Given the description of an element on the screen output the (x, y) to click on. 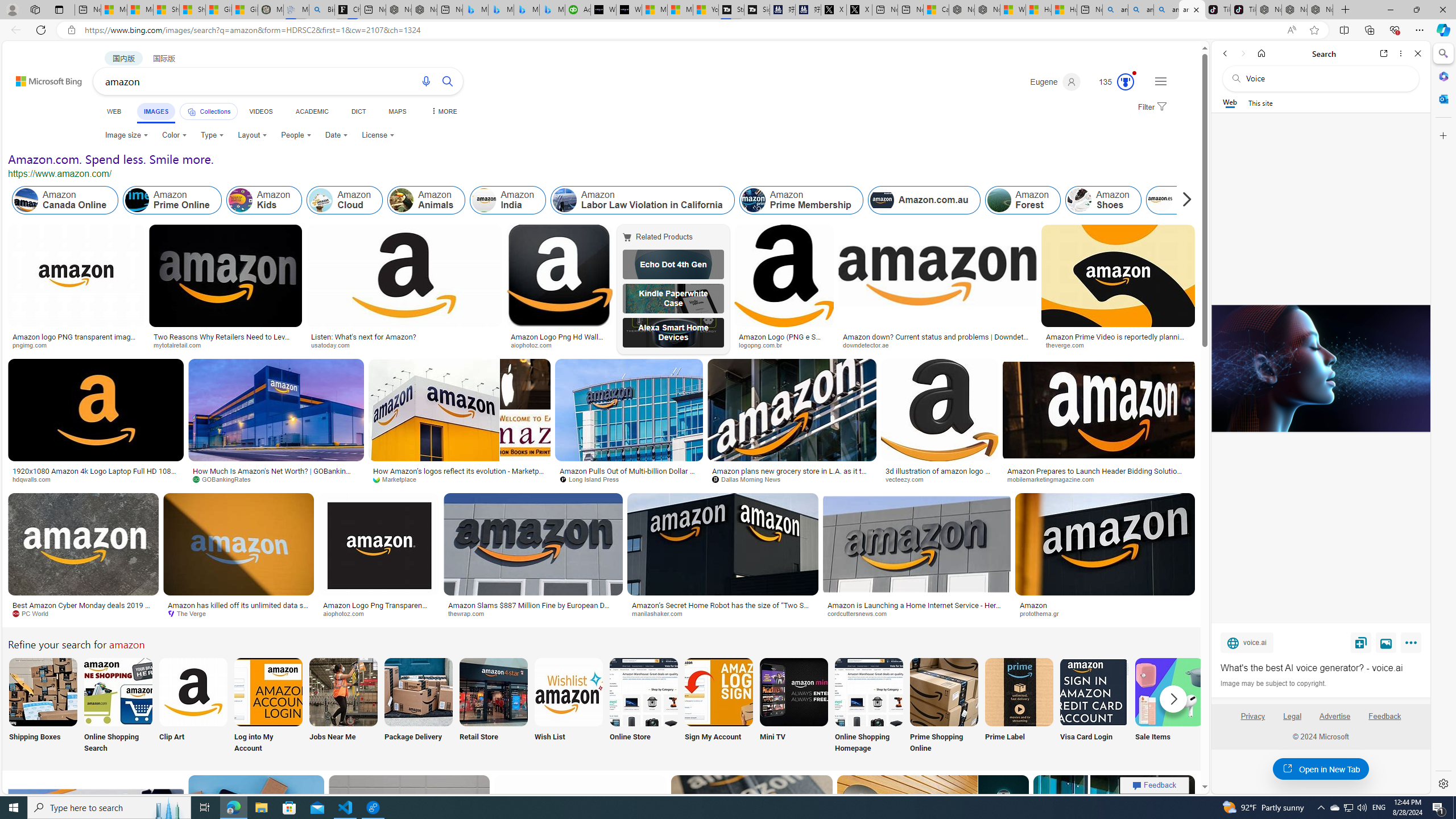
DICT (357, 111)
Amazon Online Store (644, 691)
Amazon Cloud (344, 199)
protothema.gr (1105, 613)
Amazon Mini TV Mini TV (794, 706)
Amazon Online Shopping Search (118, 691)
Gilma and Hector both pose tropical trouble for Hawaii (244, 9)
Amazon Animals (401, 200)
People (295, 135)
